Given the description of an element on the screen output the (x, y) to click on. 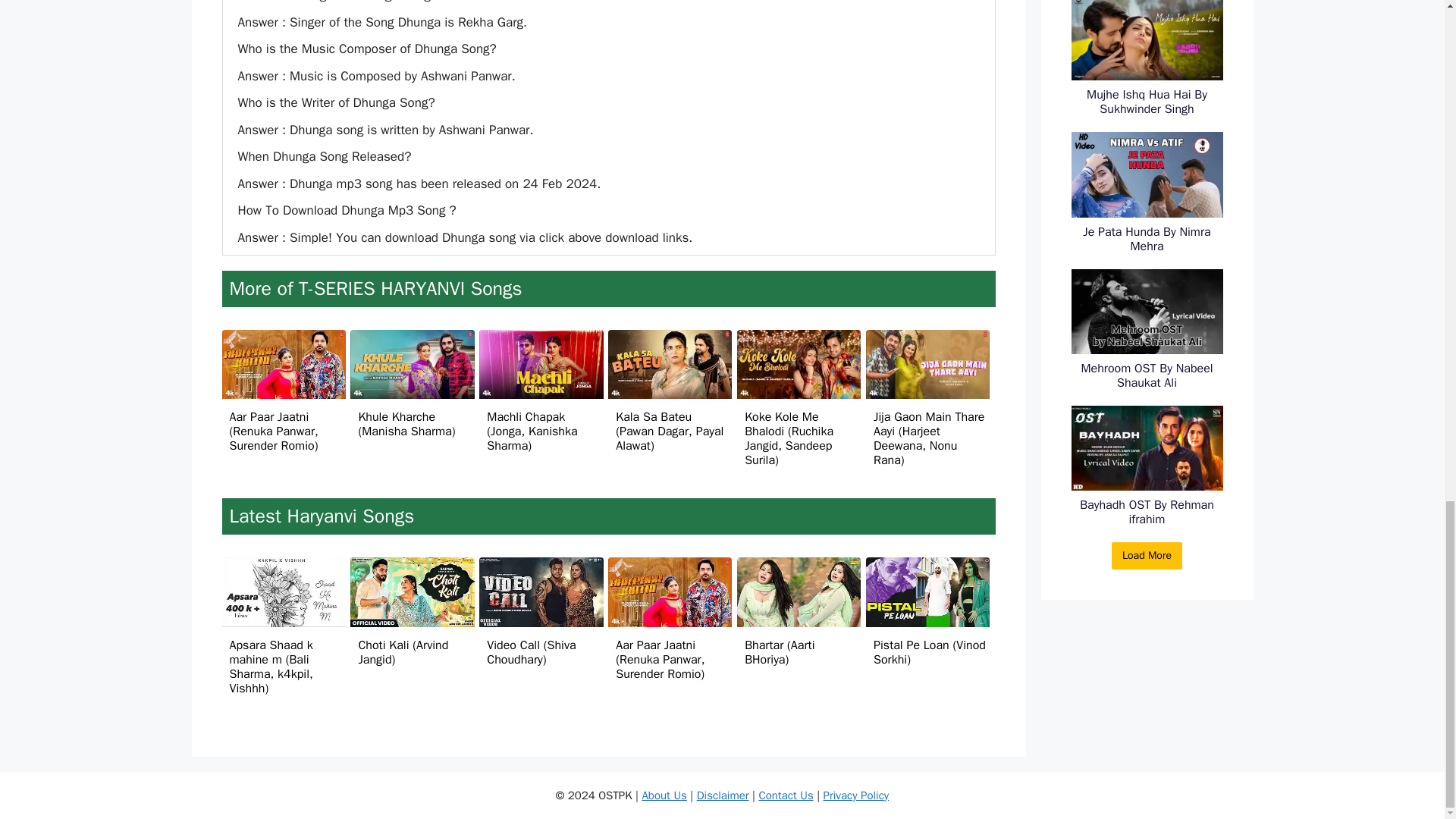
Aar Paar Jaatni (283, 363)
Choti Kali (412, 592)
Koke Kole Me Bhalodi (798, 363)
Pistal Pe Loan (928, 592)
Jija Gaon Main Thare Aayi (928, 363)
Apsara Shaad k mahine m (283, 591)
Machli Chapak (540, 363)
Bhartar (798, 592)
Video Call (540, 592)
Aar Paar Jaatni (670, 592)
Kala Sa Bateu (670, 363)
Khule Kharche (412, 363)
